Given the description of an element on the screen output the (x, y) to click on. 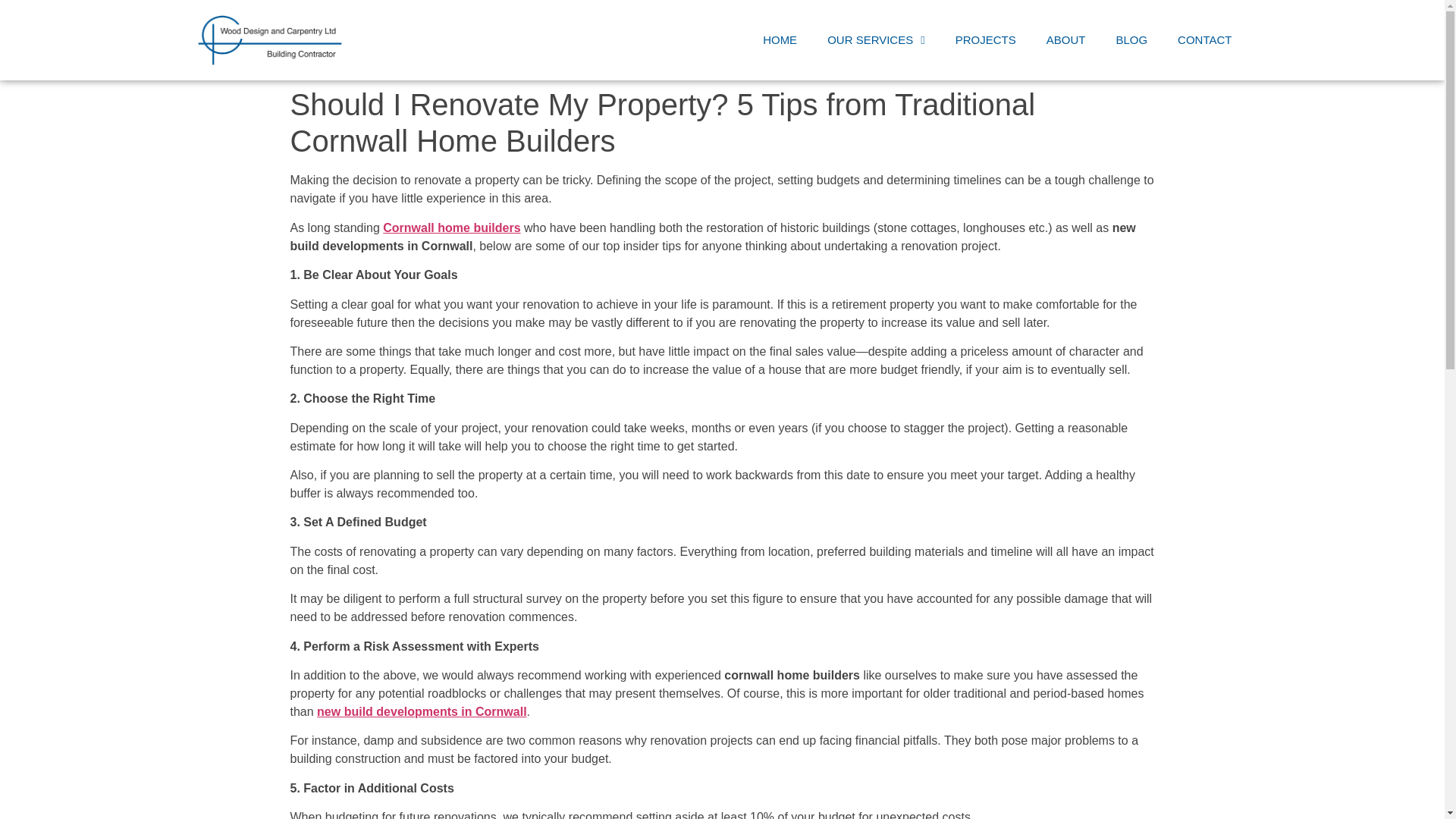
new build developments in Cornwall (421, 711)
HOME (780, 39)
PROJECTS (985, 39)
Cornwall home builders (450, 227)
BLOG (1130, 39)
CONTACT (1203, 39)
OUR SERVICES (876, 39)
ABOUT (1065, 39)
